Given the description of an element on the screen output the (x, y) to click on. 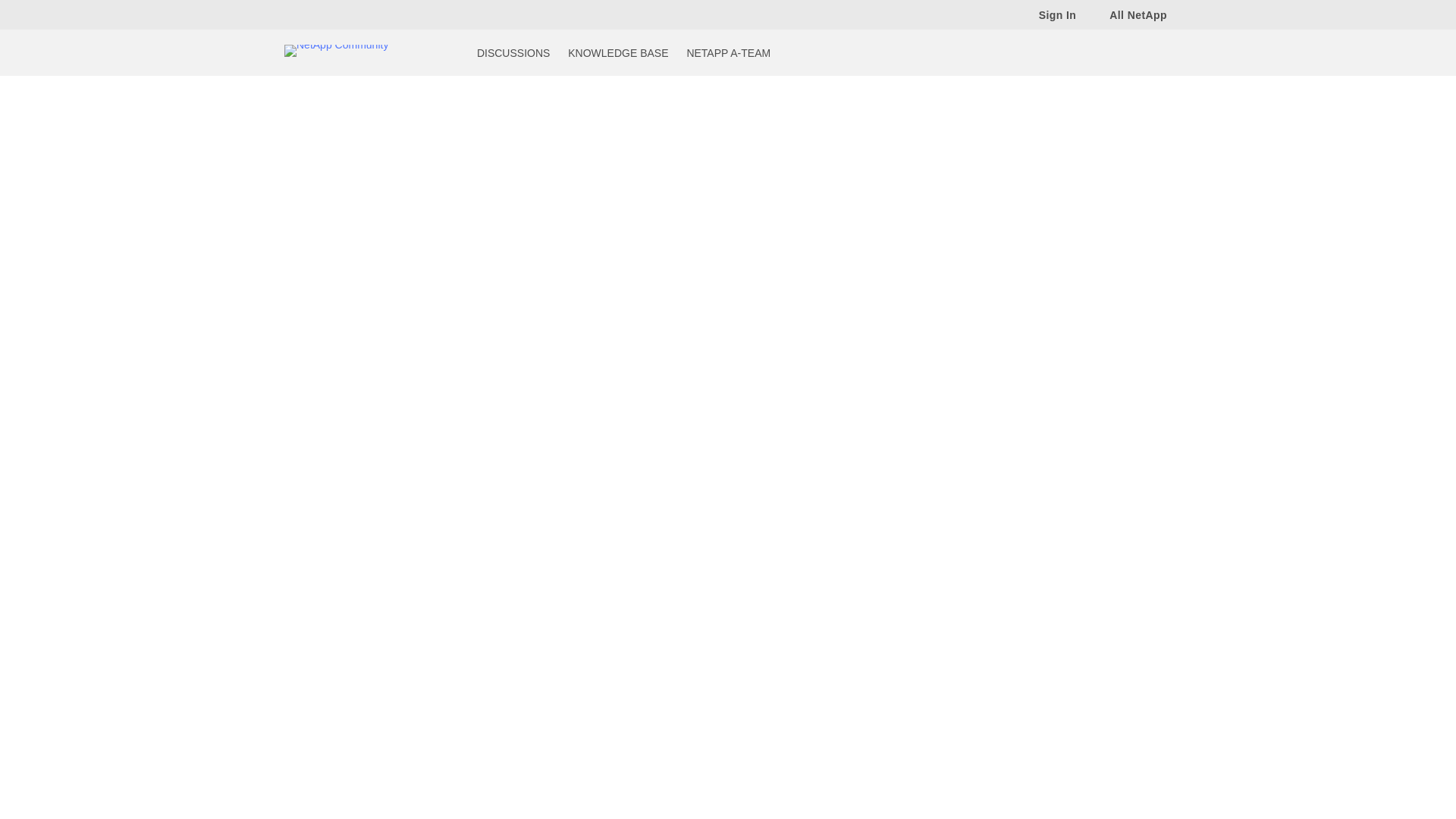
NETAPP A-TEAM (727, 52)
All NetApp (1130, 14)
KNOWLEDGE BASE (617, 52)
Sign In (1050, 14)
DISCUSSIONS (513, 52)
All NetApp (1130, 14)
